Given the description of an element on the screen output the (x, y) to click on. 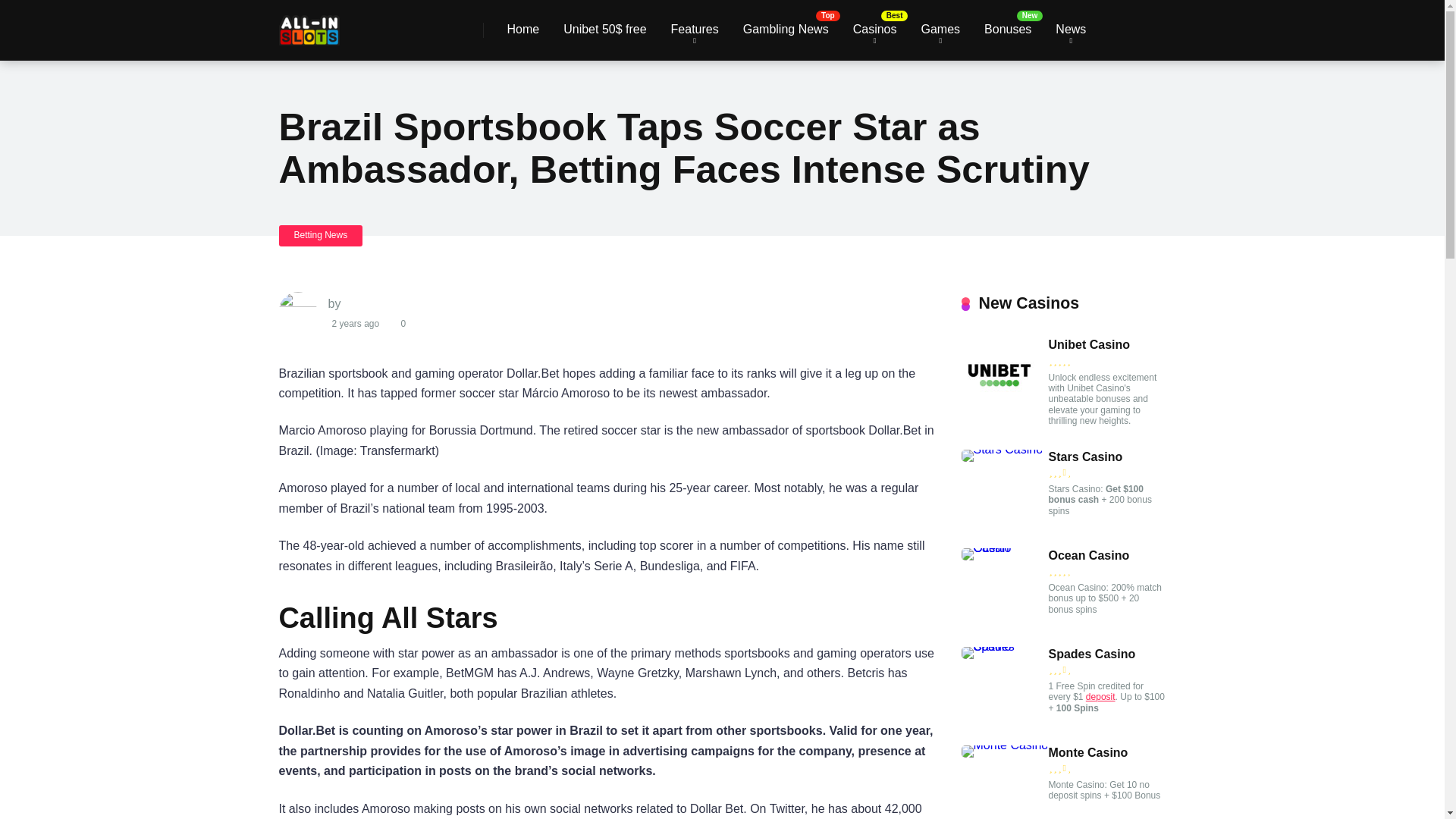
Games (940, 30)
Home (523, 30)
Ocean Casino (1004, 547)
Spades Casino (1004, 645)
Stars Casino (1085, 457)
Gambling News (785, 30)
Spades Casino (1091, 653)
Features (694, 30)
Bonuses (1007, 30)
Betting News (320, 235)
